Given the description of an element on the screen output the (x, y) to click on. 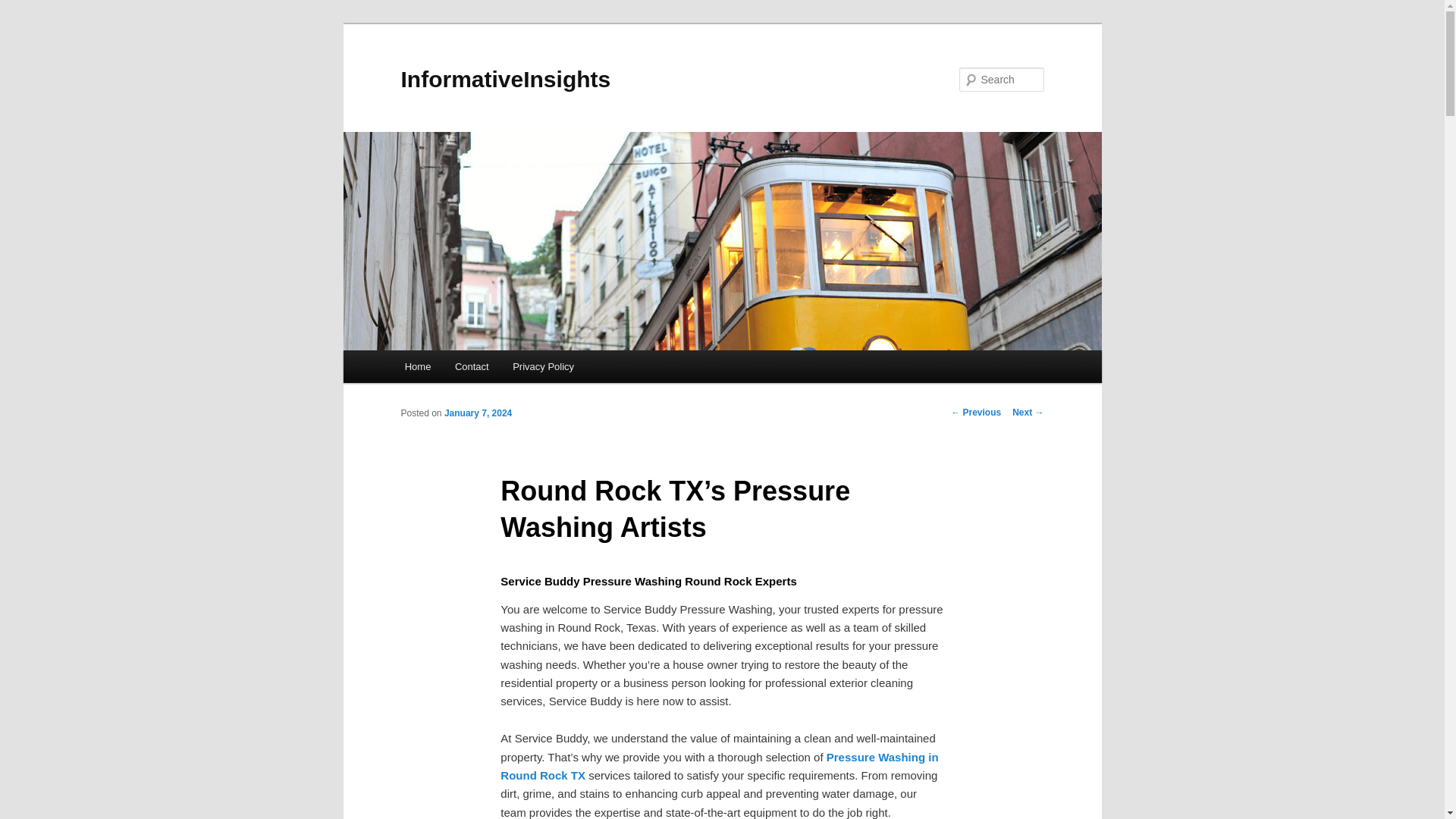
Privacy Policy (542, 366)
Search (24, 8)
Contact (471, 366)
Home (417, 366)
Pressure Washing in Round Rock TX (718, 766)
January 7, 2024 (478, 412)
9:23 pm (478, 412)
InformativeInsights (505, 78)
